Given the description of an element on the screen output the (x, y) to click on. 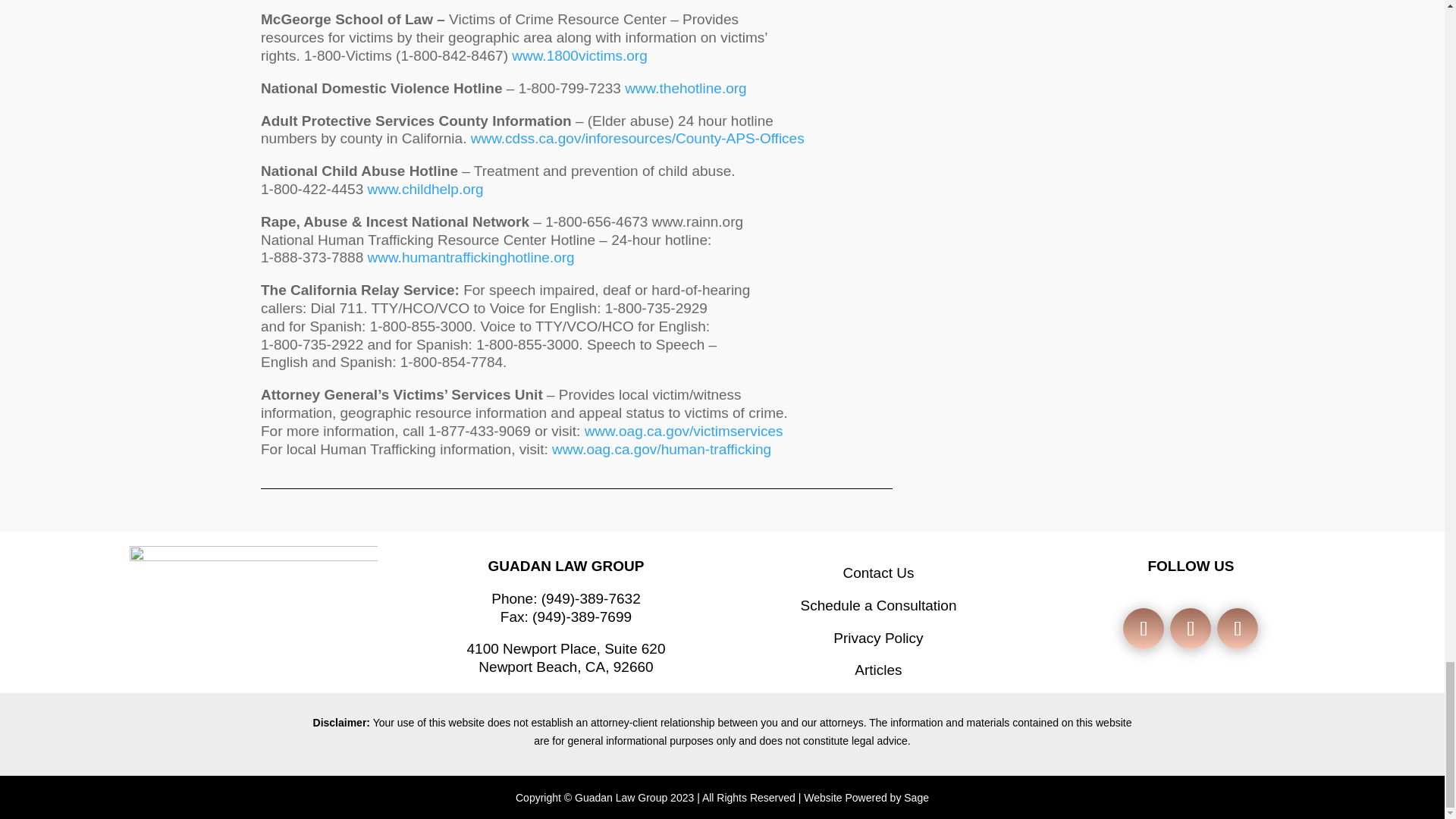
www.childhelp.org (424, 188)
www.1800victims.org (579, 55)
Follow on Facebook (1142, 628)
www.thehotline.org (685, 88)
Follow on Google (1237, 628)
Guadan logo-LRG (253, 616)
www.humantraffickinghotline.org (469, 257)
Follow on Instagram (1190, 628)
